Given the description of an element on the screen output the (x, y) to click on. 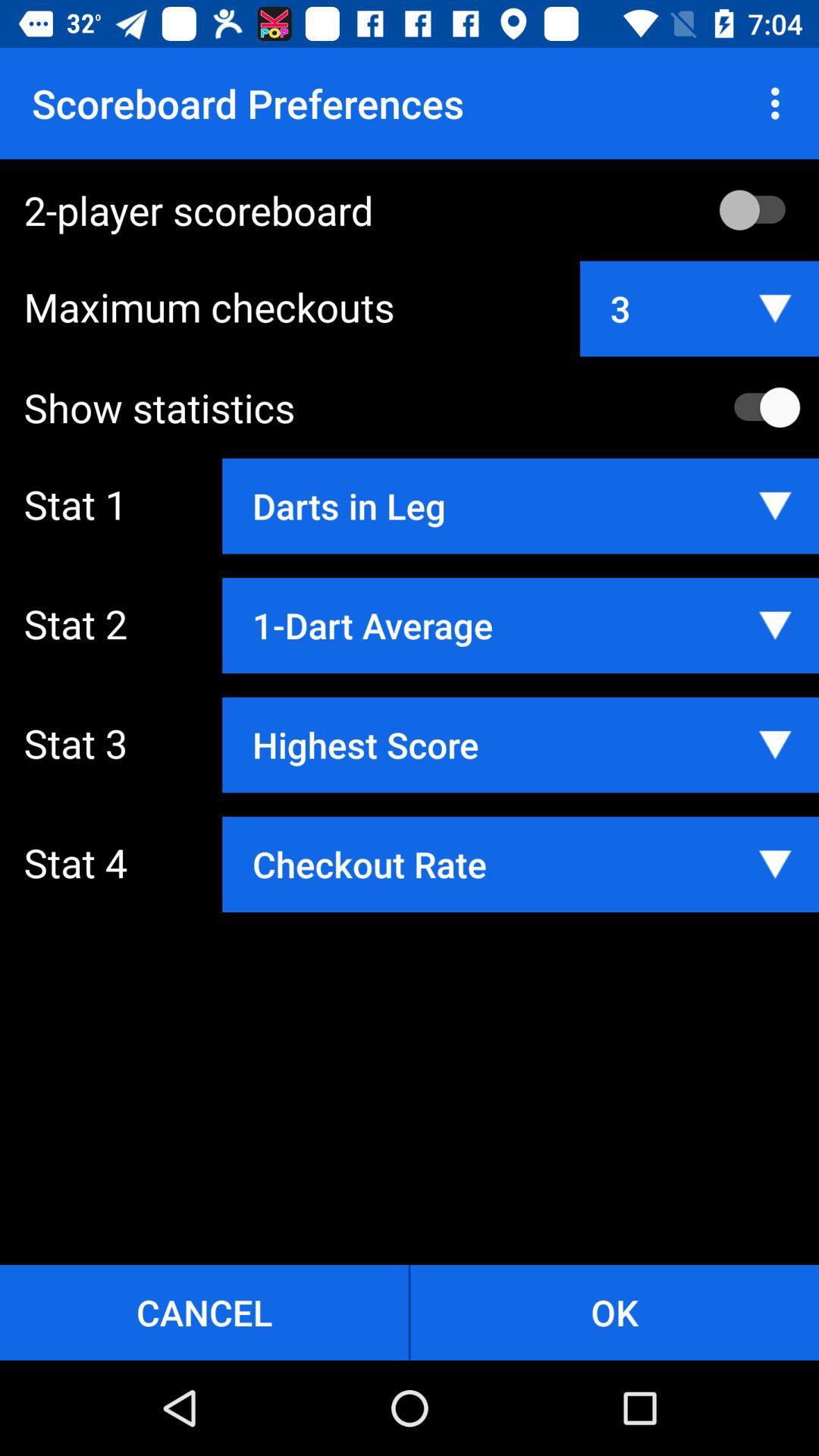
click the item to the right of cancel icon (614, 1312)
